Given the description of an element on the screen output the (x, y) to click on. 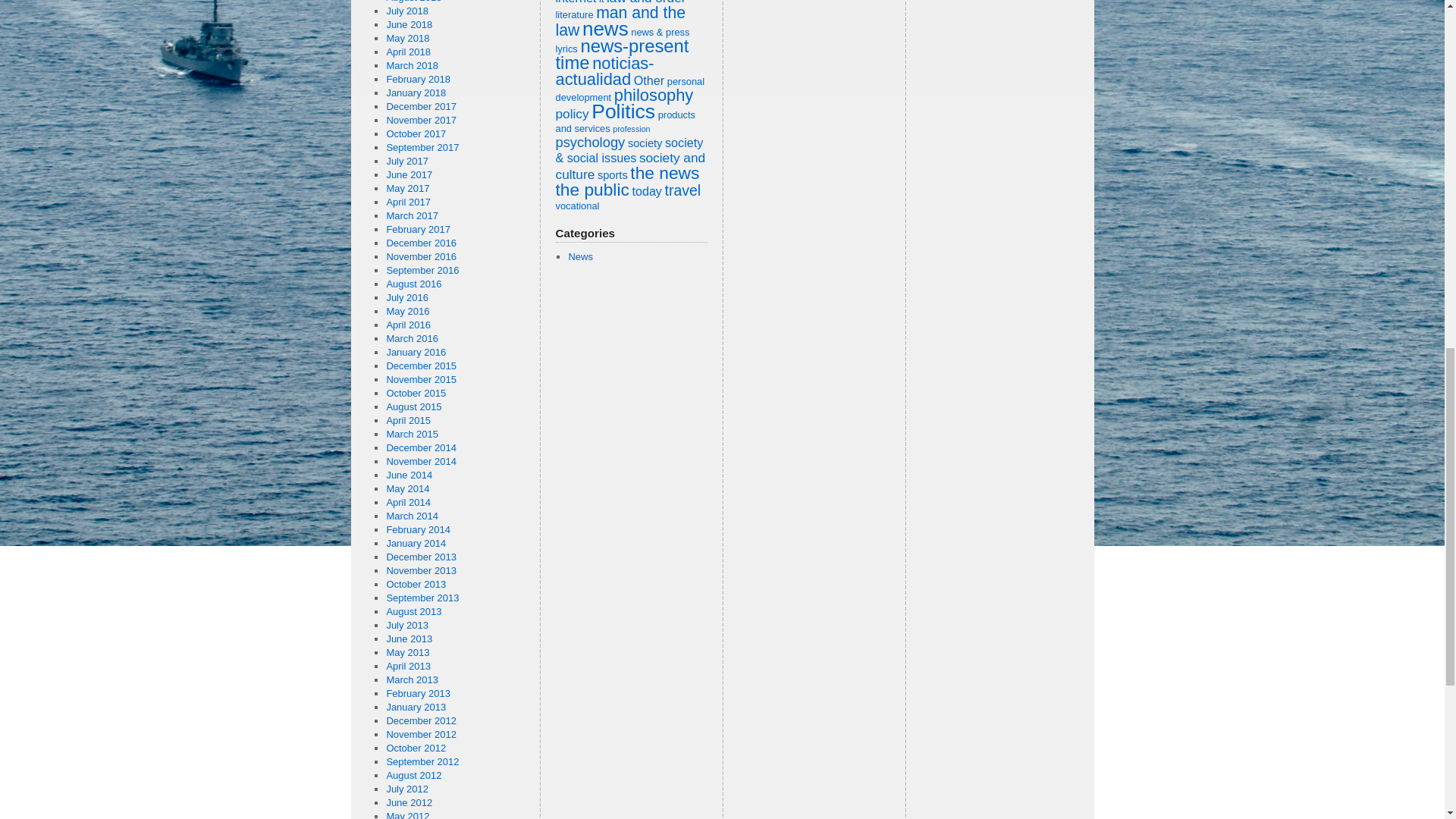
October 2017 (415, 133)
January 2018 (415, 92)
September 2017 (421, 147)
April 2018 (407, 51)
July 2018 (406, 10)
June 2017 (408, 174)
March 2018 (411, 65)
May 2018 (407, 38)
August 2018 (413, 1)
May 2017 (407, 188)
November 2017 (421, 120)
December 2017 (421, 106)
July 2017 (406, 161)
June 2018 (408, 24)
April 2017 (407, 202)
